Given the description of an element on the screen output the (x, y) to click on. 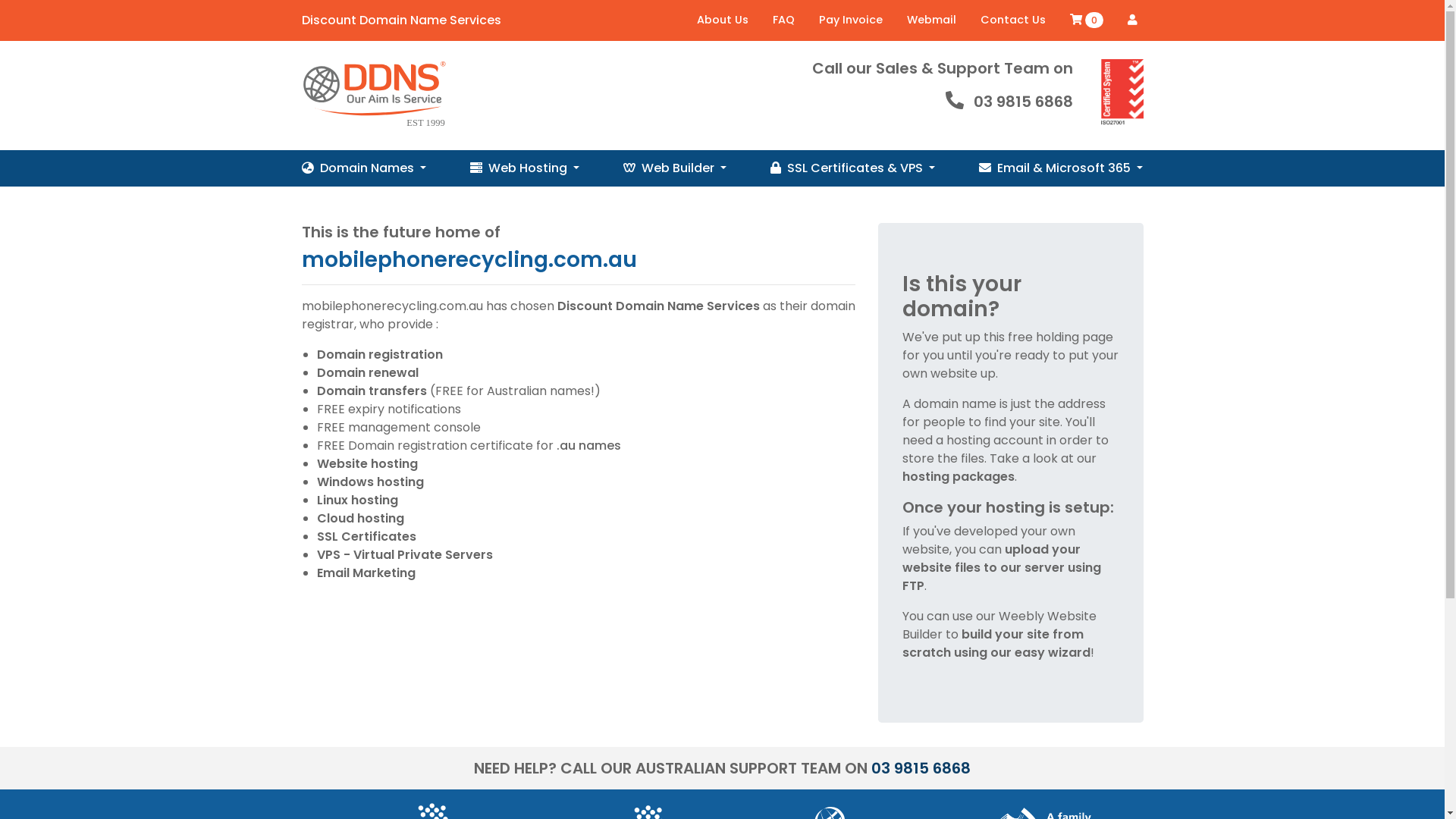
SSL Certificates & VPS Element type: text (852, 168)
SSL Certificates Element type: text (366, 536)
build your site from scratch using our easy wizard Element type: text (996, 643)
Email Marketing Element type: text (365, 572)
Linux hosting Element type: text (357, 499)
0 Element type: text (1085, 20)
Web Hosting Element type: text (524, 168)
Website hosting Element type: text (366, 463)
Cloud hosting Element type: text (360, 518)
Domain Names Element type: text (363, 168)
upload your website files to our server using FTP Element type: text (1001, 567)
Discount Domain Name Services Element type: text (401, 20)
VPS - Virtual Private Servers Element type: text (404, 554)
Login Element type: hover (1131, 19)
hosting packages Element type: text (958, 476)
Discount Domain Name Services Element type: text (657, 305)
Discount Domain Name Services Element type: hover (372, 95)
About Us Element type: text (721, 20)
Domain transfers Element type: text (371, 390)
03 9815 6868 Element type: text (1023, 101)
Pay Invoice Element type: text (850, 20)
Contact Us Element type: text (1012, 20)
Web Builder Element type: text (674, 168)
FAQ Element type: text (782, 20)
Email & Microsoft 365 Element type: text (1060, 168)
ISO27001 Data Security Certified Element type: hover (1122, 93)
Windows hosting Element type: text (369, 481)
Domain registration Element type: text (379, 354)
Domain renewal Element type: text (367, 372)
Webmail Element type: text (931, 20)
03 9815 6868 Element type: text (920, 767)
